Given the description of an element on the screen output the (x, y) to click on. 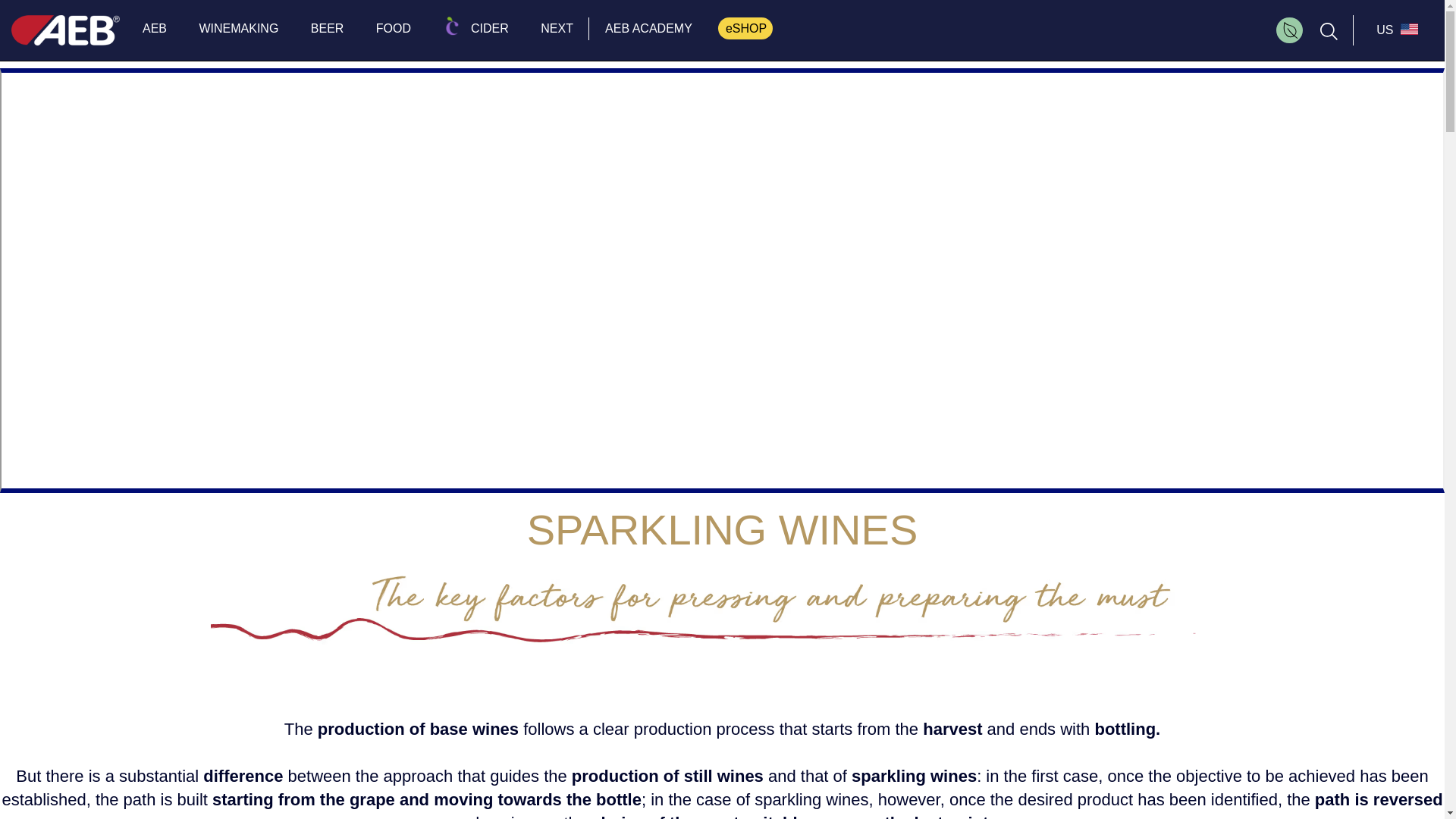
AEB (155, 28)
NEXT (557, 28)
FOOD (394, 28)
BEER (327, 28)
AEB ACADEMY (647, 28)
WINEMAKING (238, 28)
Sustainability (1290, 29)
eSHOP (745, 28)
CIDER (476, 28)
